Given the description of an element on the screen output the (x, y) to click on. 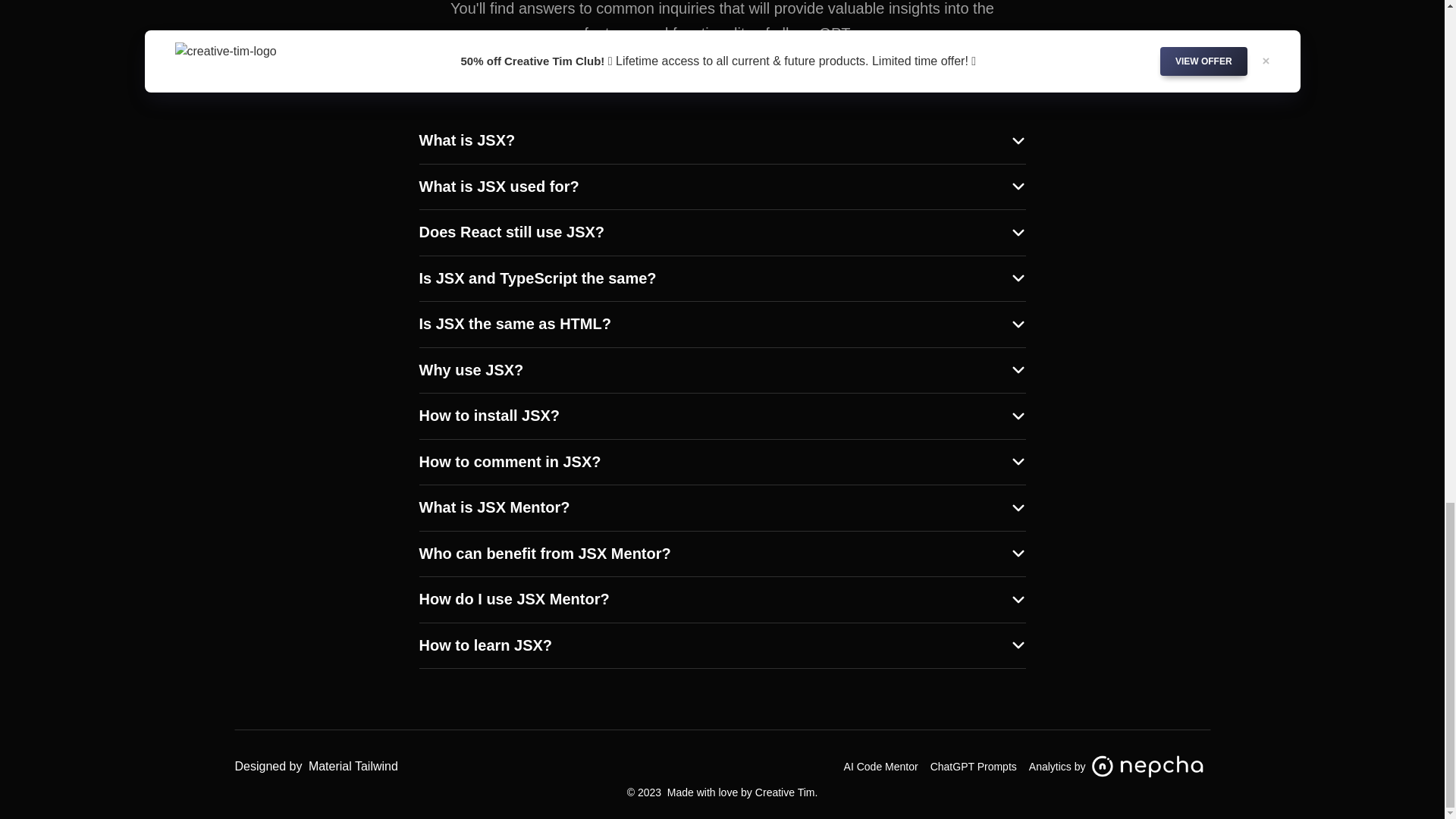
Creative Tim (785, 792)
Analytics by (1119, 766)
AI Code Mentor (881, 766)
ChatGPT Prompts (973, 766)
Material Tailwind (352, 766)
